Given the description of an element on the screen output the (x, y) to click on. 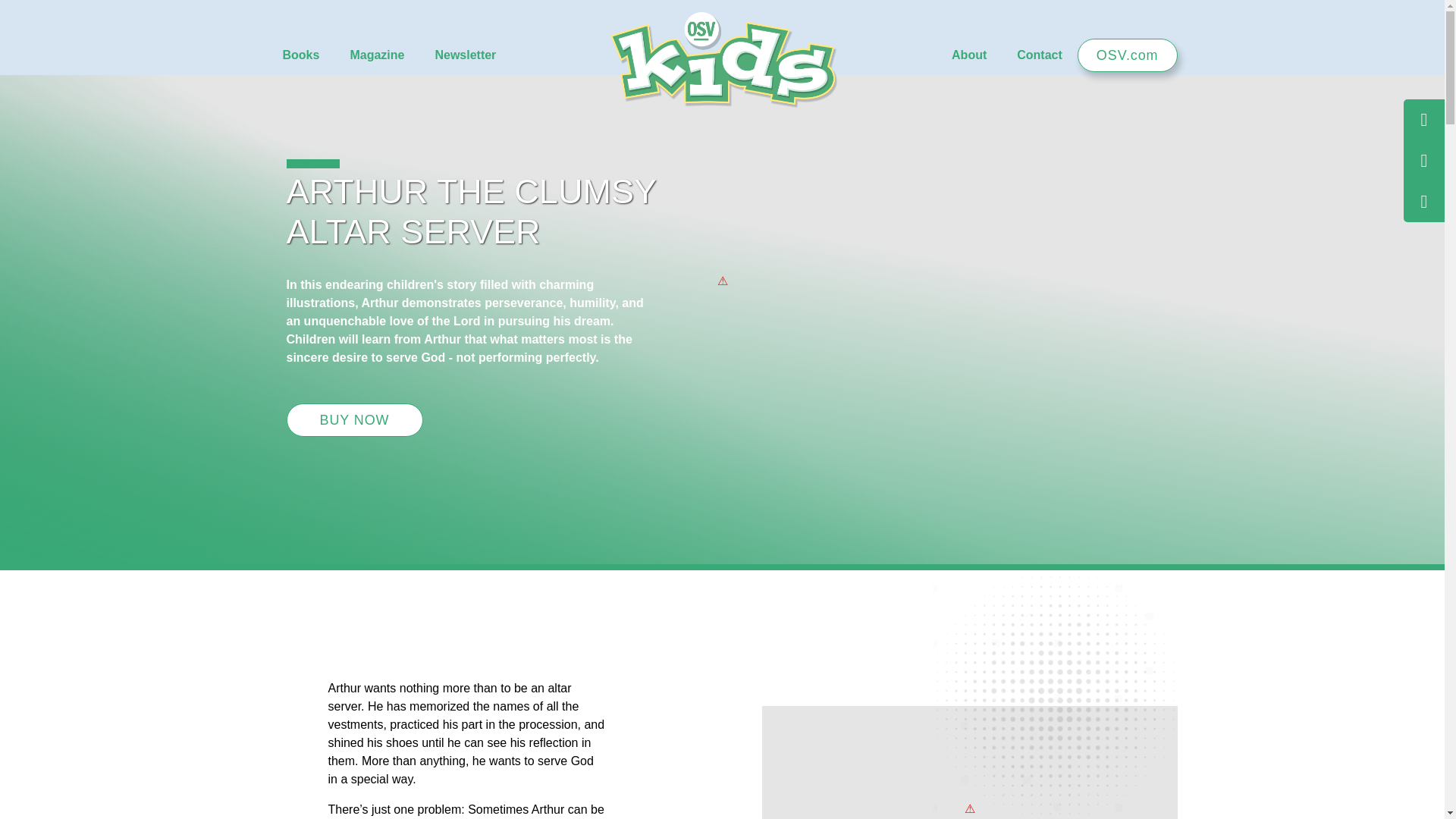
BUY NOW (354, 419)
Click Here (968, 743)
Contact (1039, 55)
OSV.com (1127, 55)
Magazine (376, 55)
Newsletter (465, 55)
Click Here (771, 781)
About (968, 55)
Books (300, 55)
